Given the description of an element on the screen output the (x, y) to click on. 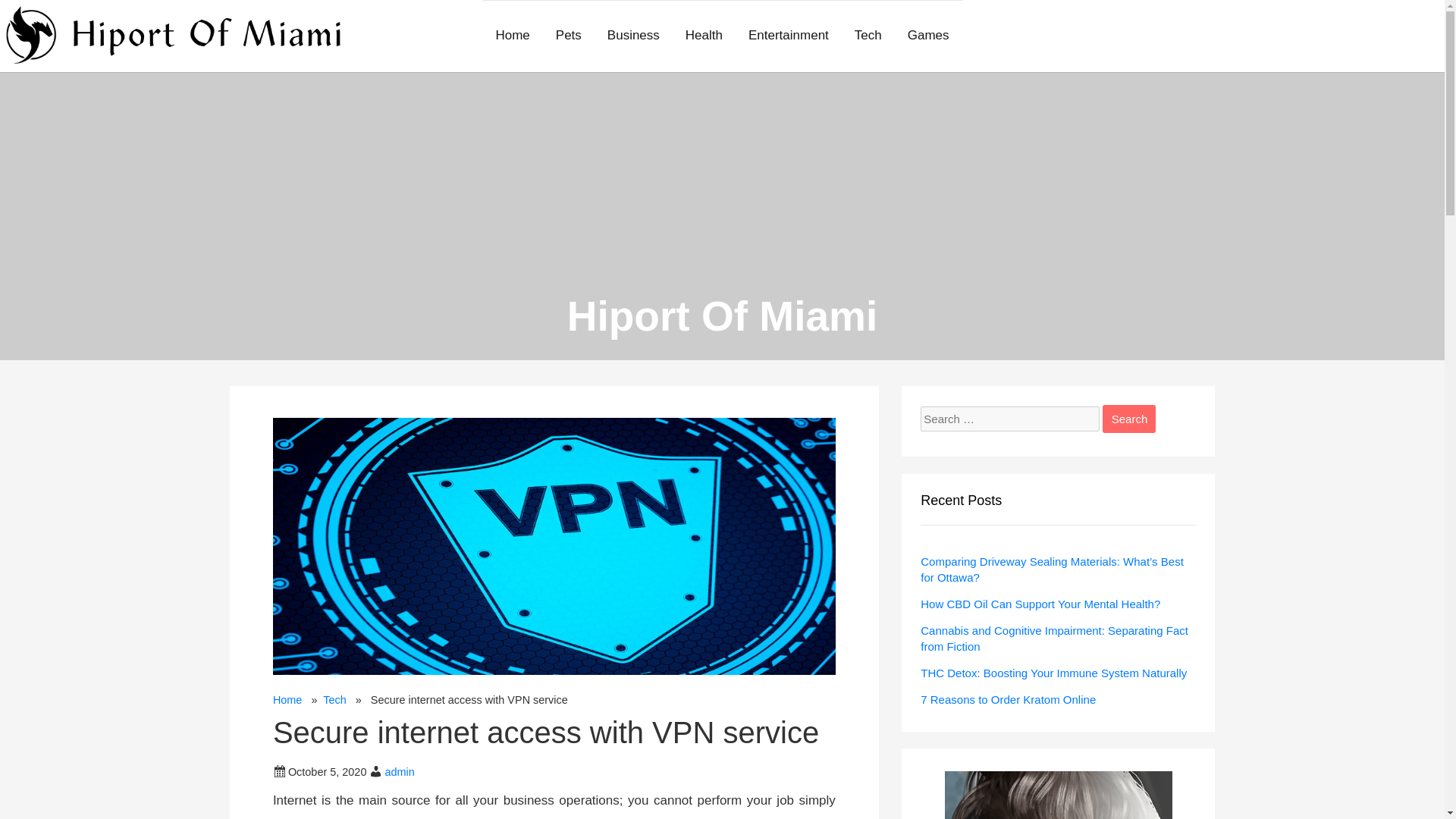
Posts by admin (398, 771)
Search (1129, 419)
Search (1129, 419)
Games (928, 36)
Search (1129, 419)
Tech (334, 699)
How CBD Oil Can Support Your Mental Health? (1040, 603)
admin (398, 771)
THC Detox: Boosting Your Immune System Naturally (1053, 671)
Business (633, 36)
